Given the description of an element on the screen output the (x, y) to click on. 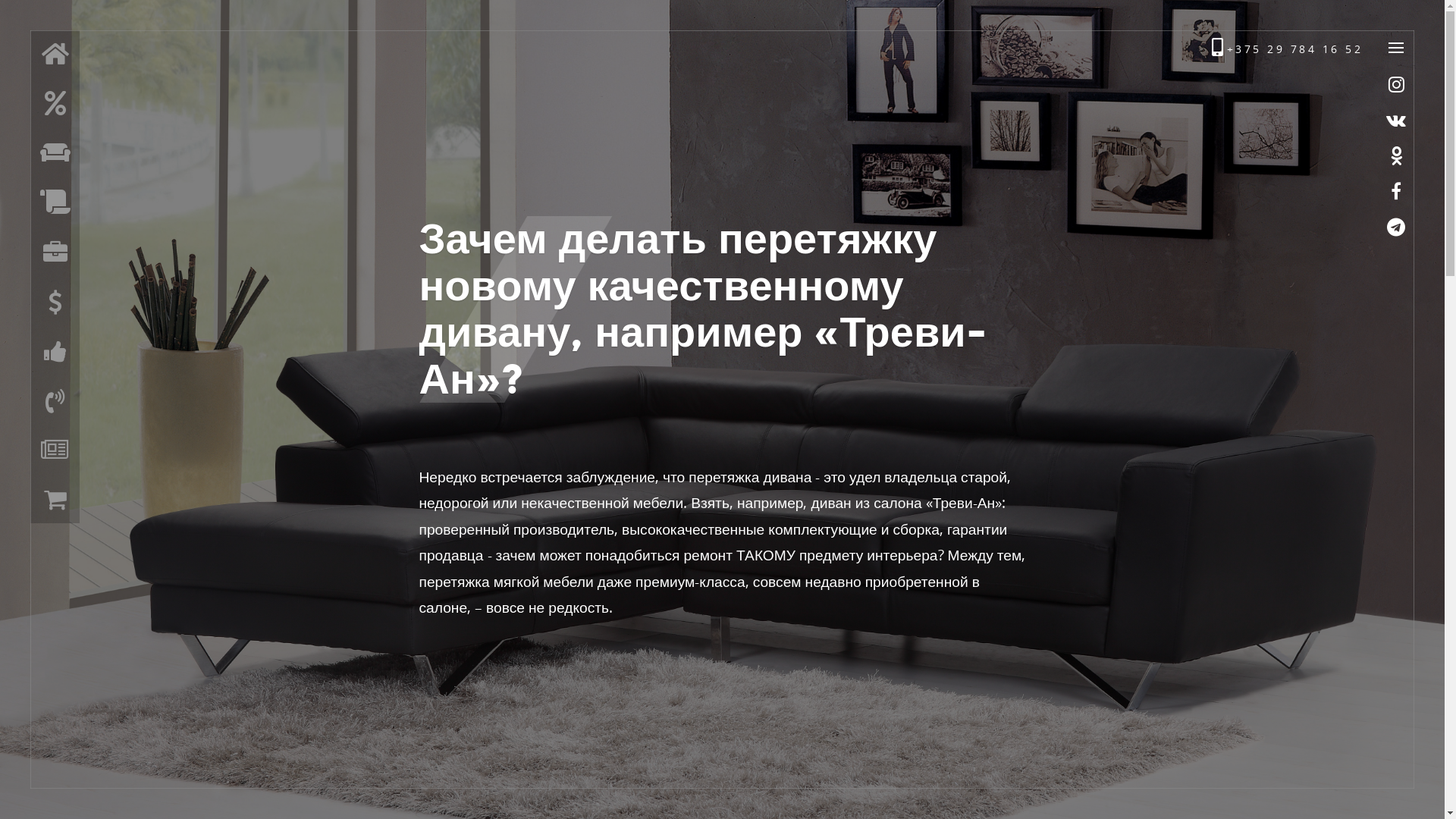
+375 29 784 16 52 Element type: text (1286, 48)
